Given the description of an element on the screen output the (x, y) to click on. 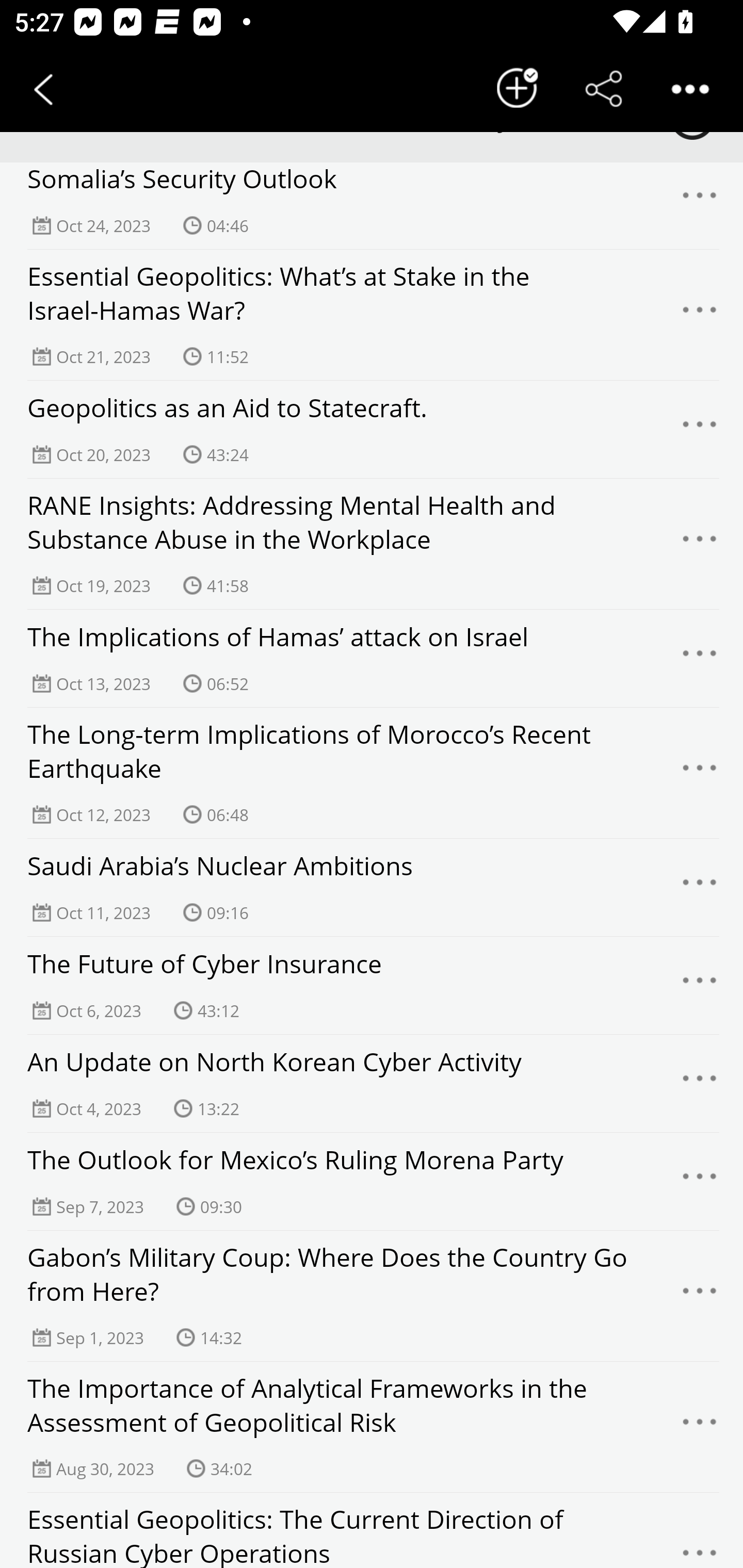
Back (43, 88)
Somalia’s Security Outlook Oct 24, 2023 04:46 Menu (371, 206)
Menu (699, 203)
Menu (699, 315)
Menu (699, 429)
Menu (699, 544)
Menu (699, 658)
Menu (699, 772)
Menu (699, 887)
Menu (699, 985)
Menu (699, 1083)
Menu (699, 1181)
Menu (699, 1295)
Menu (699, 1427)
Menu (699, 1541)
